Given the description of an element on the screen output the (x, y) to click on. 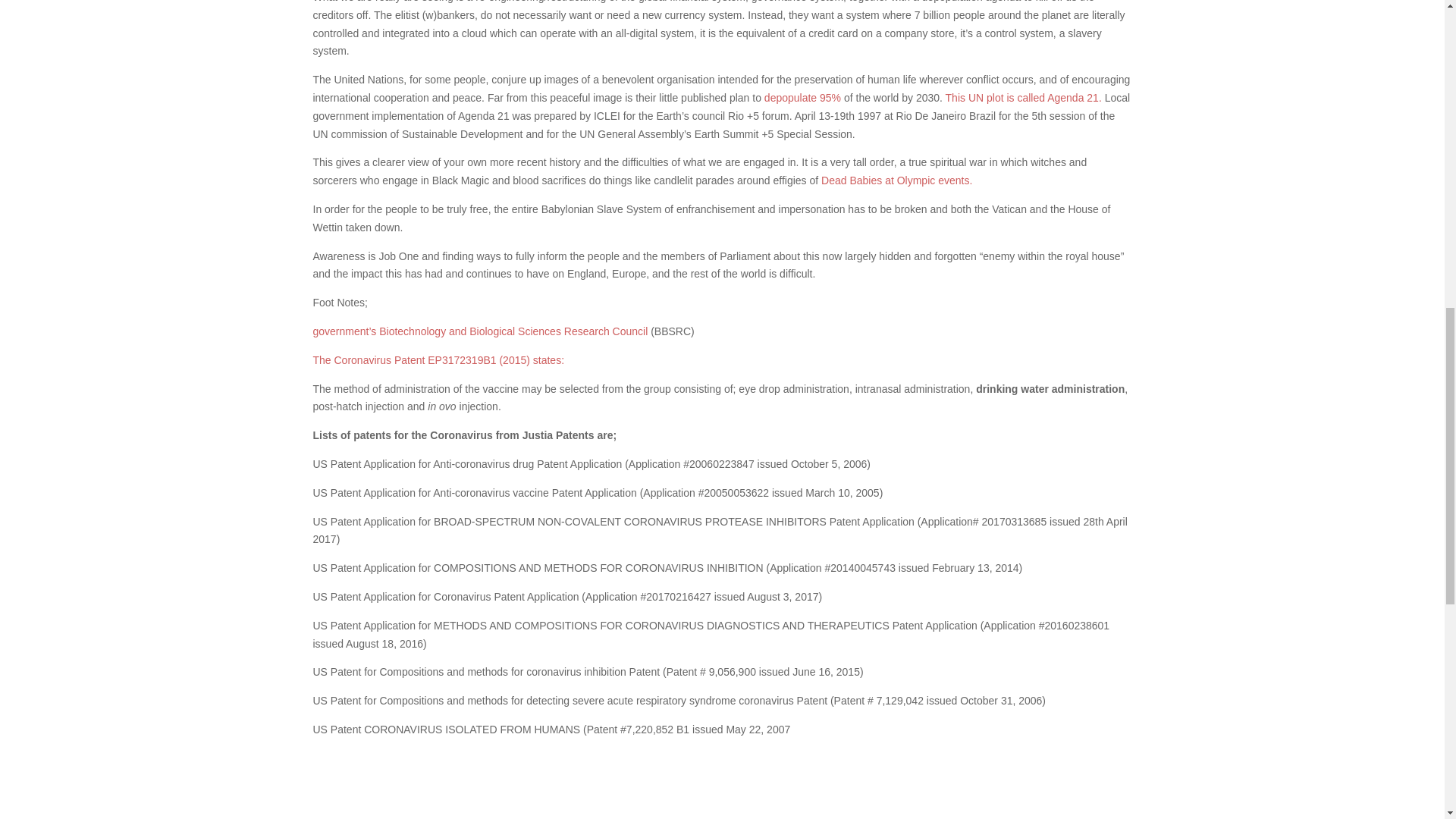
Biotechnology and Biological Sciences Research Council (512, 331)
Dead Babies at Olympic events. (896, 180)
This UN plot is called Agenda 21. (1024, 97)
